Given the description of an element on the screen output the (x, y) to click on. 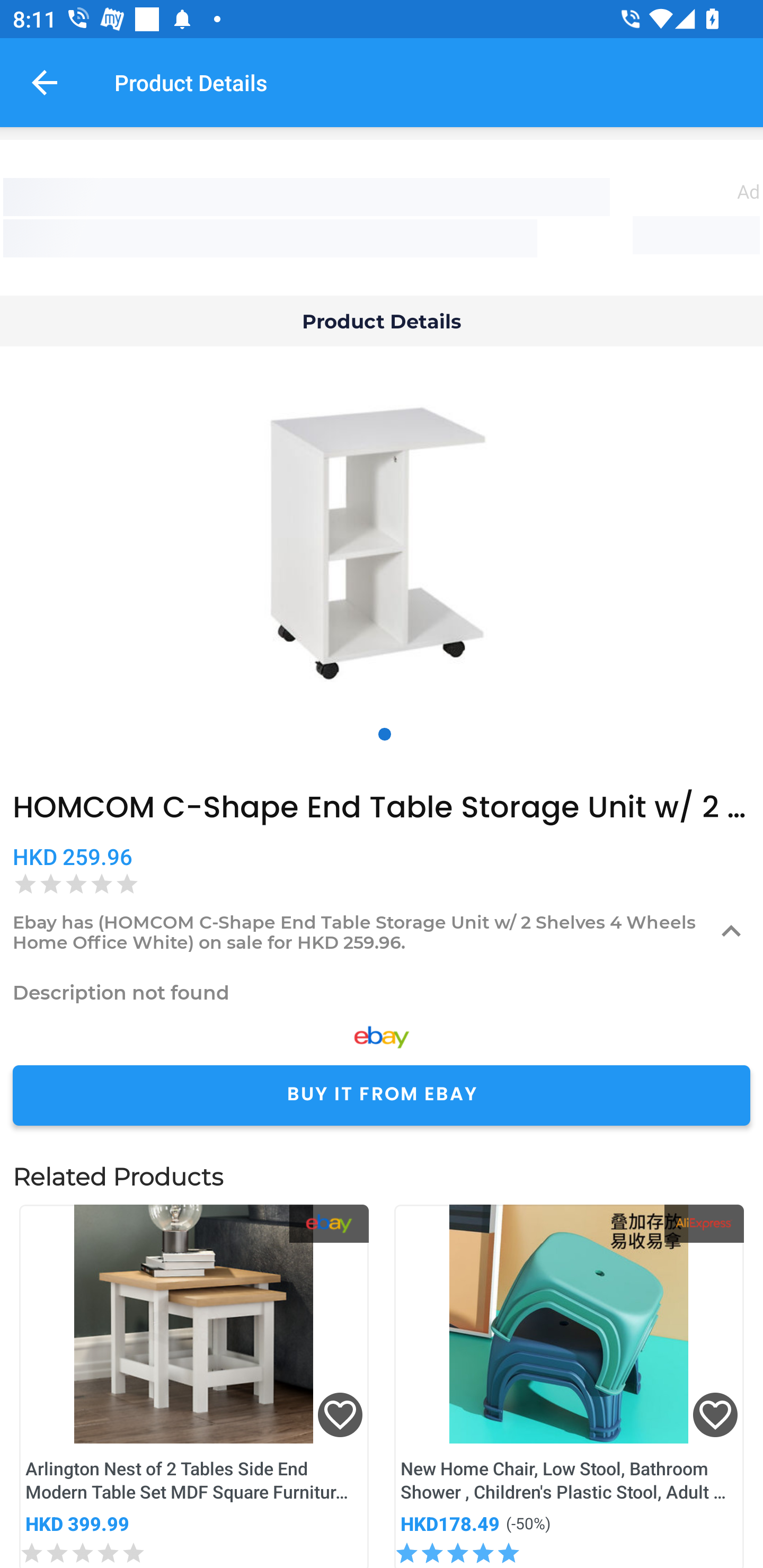
Navigate up (44, 82)
Description not found (381, 991)
BUY IT FROM EBAY (381, 1095)
